Given the description of an element on the screen output the (x, y) to click on. 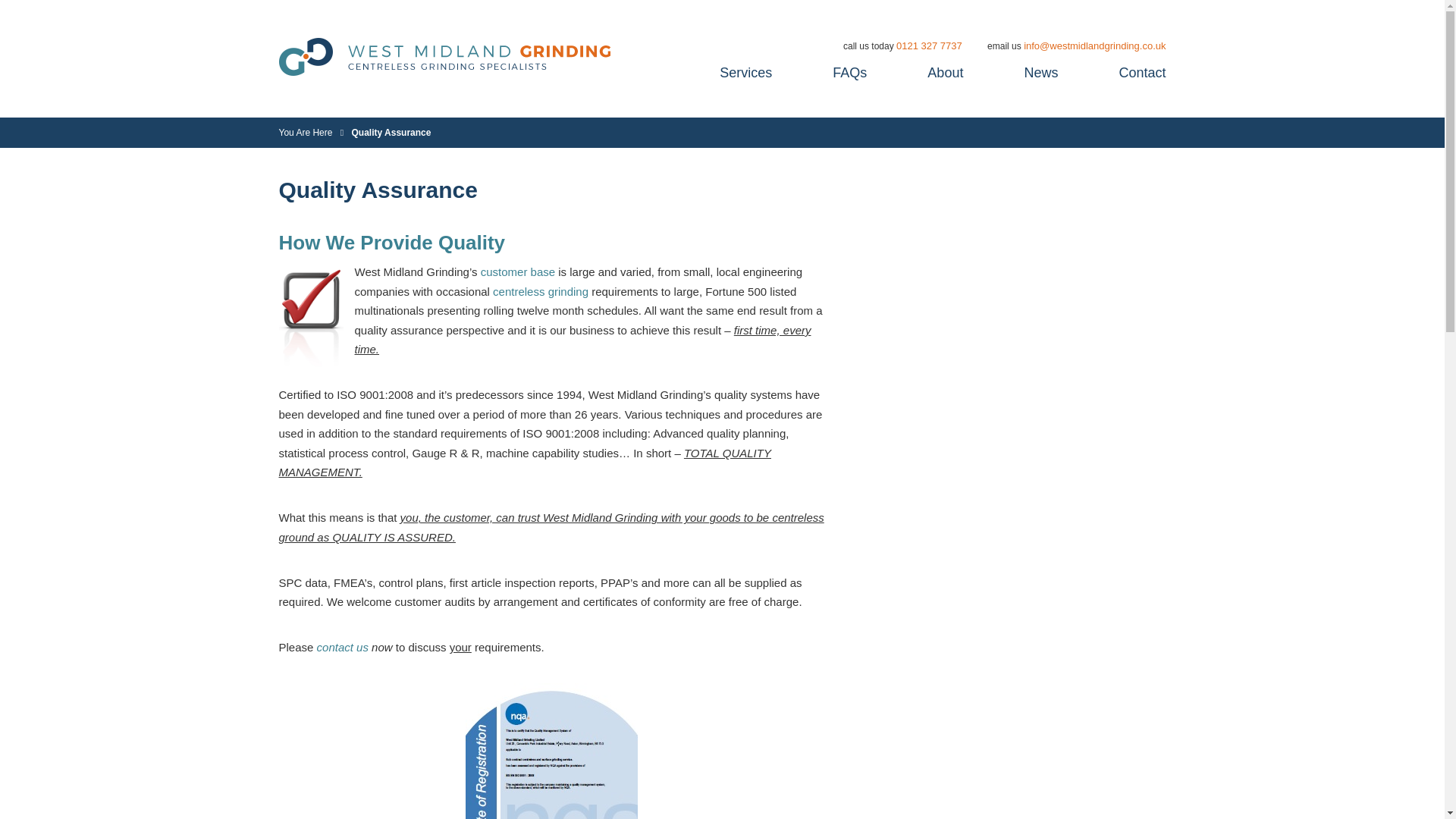
News (1040, 72)
Centreless Grinding (540, 291)
Contact (1142, 72)
0121 327 7737 (929, 45)
West Midland Grinding, Birmingham, UK Grinder (342, 646)
contact us (342, 646)
ISO 9001:2008 Certified Grinder (552, 751)
About (944, 72)
FAQs (849, 72)
Industries serviced by West Midland Grinding, Birmingham, UK (517, 271)
You Are Here (306, 132)
Services (745, 72)
centreless grinding (540, 291)
customer base (517, 271)
